Given the description of an element on the screen output the (x, y) to click on. 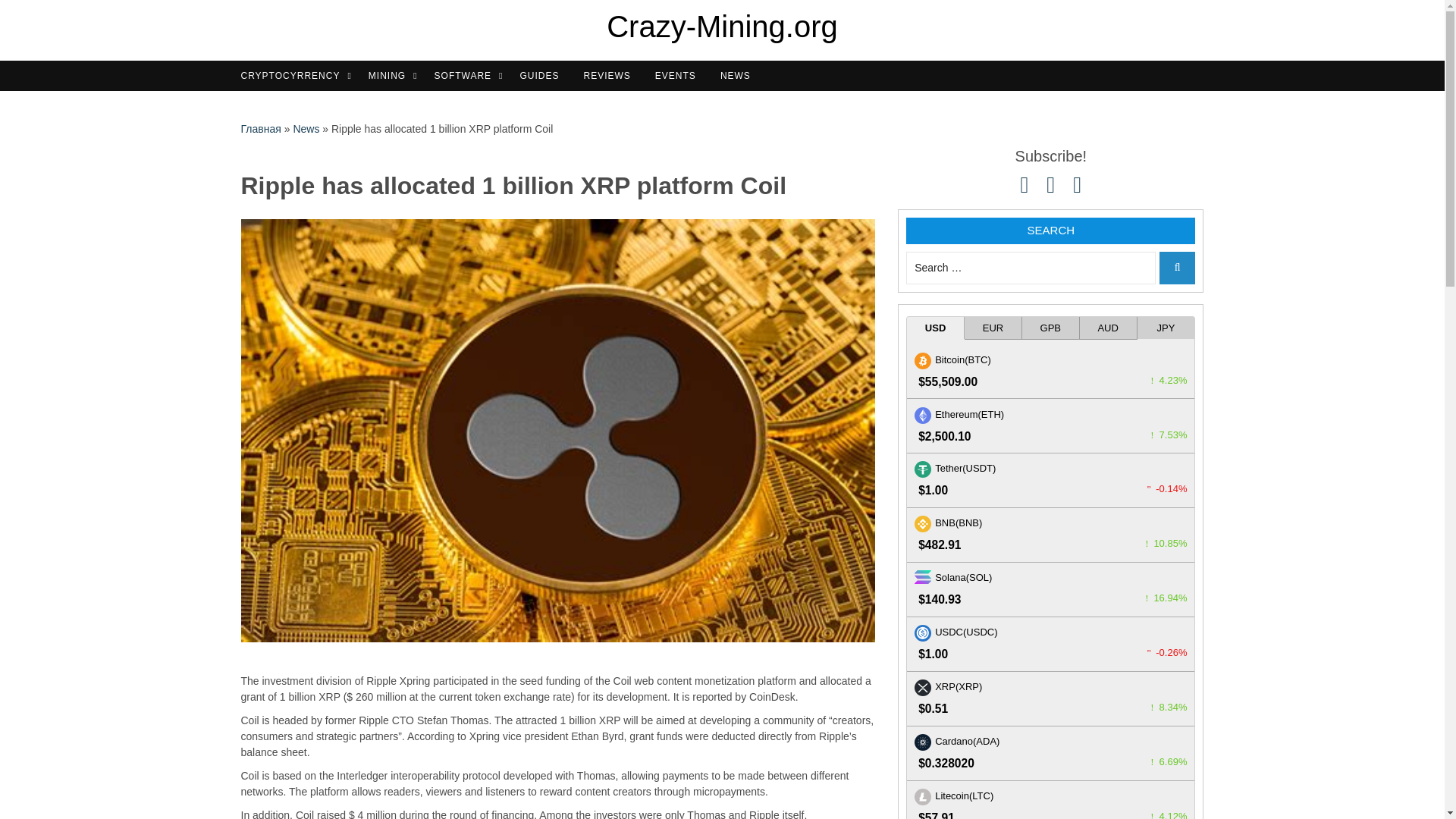
EVENTS (679, 75)
NEWS (739, 75)
GUIDES (543, 75)
MINING (392, 75)
CRYPTOCYRRENCY (296, 75)
News (305, 128)
Crazy-Mining.org (722, 26)
SOFTWARE (468, 75)
REVIEWS (611, 75)
